Given the description of an element on the screen output the (x, y) to click on. 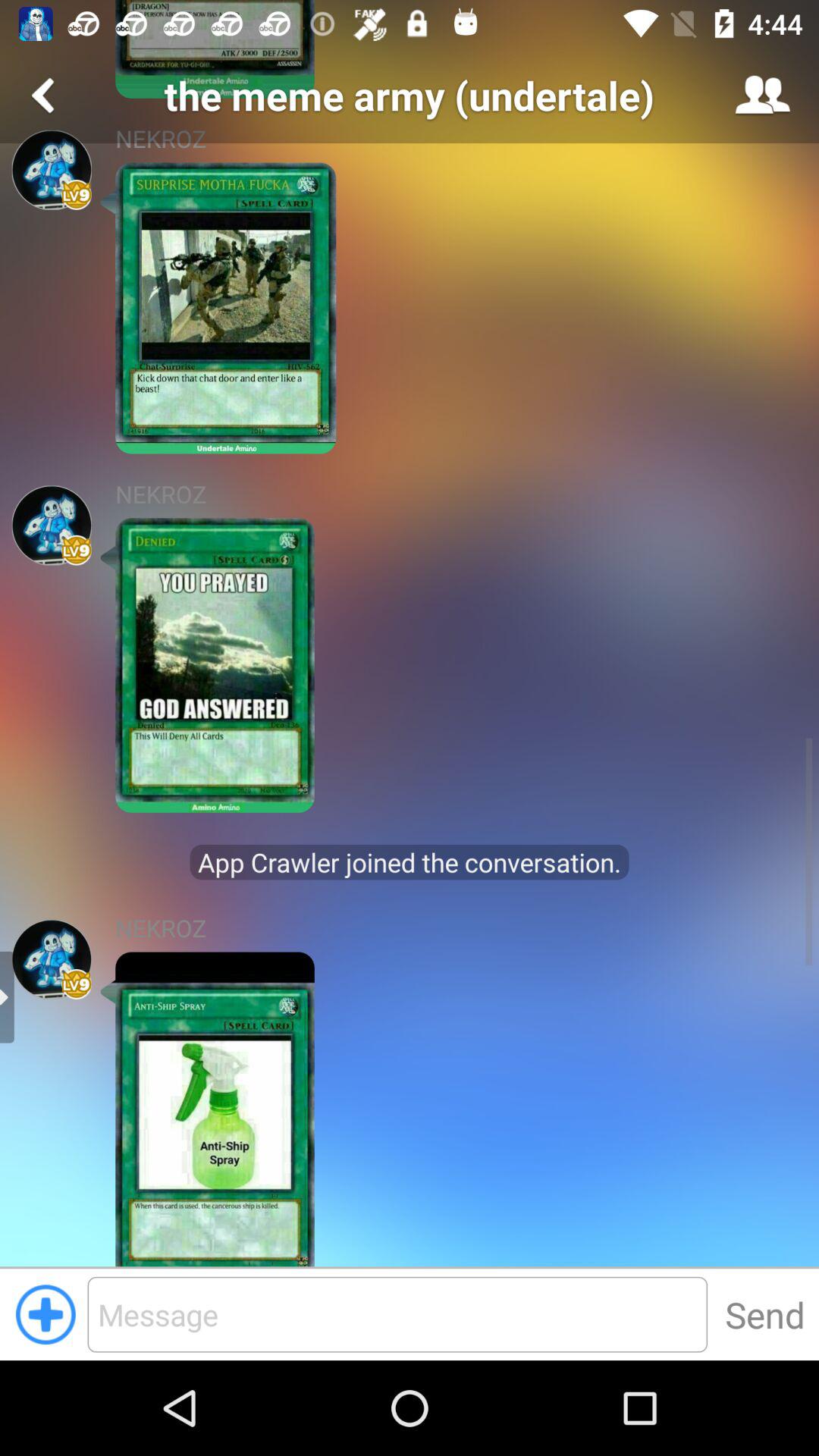
add page (45, 1314)
